Given the description of an element on the screen output the (x, y) to click on. 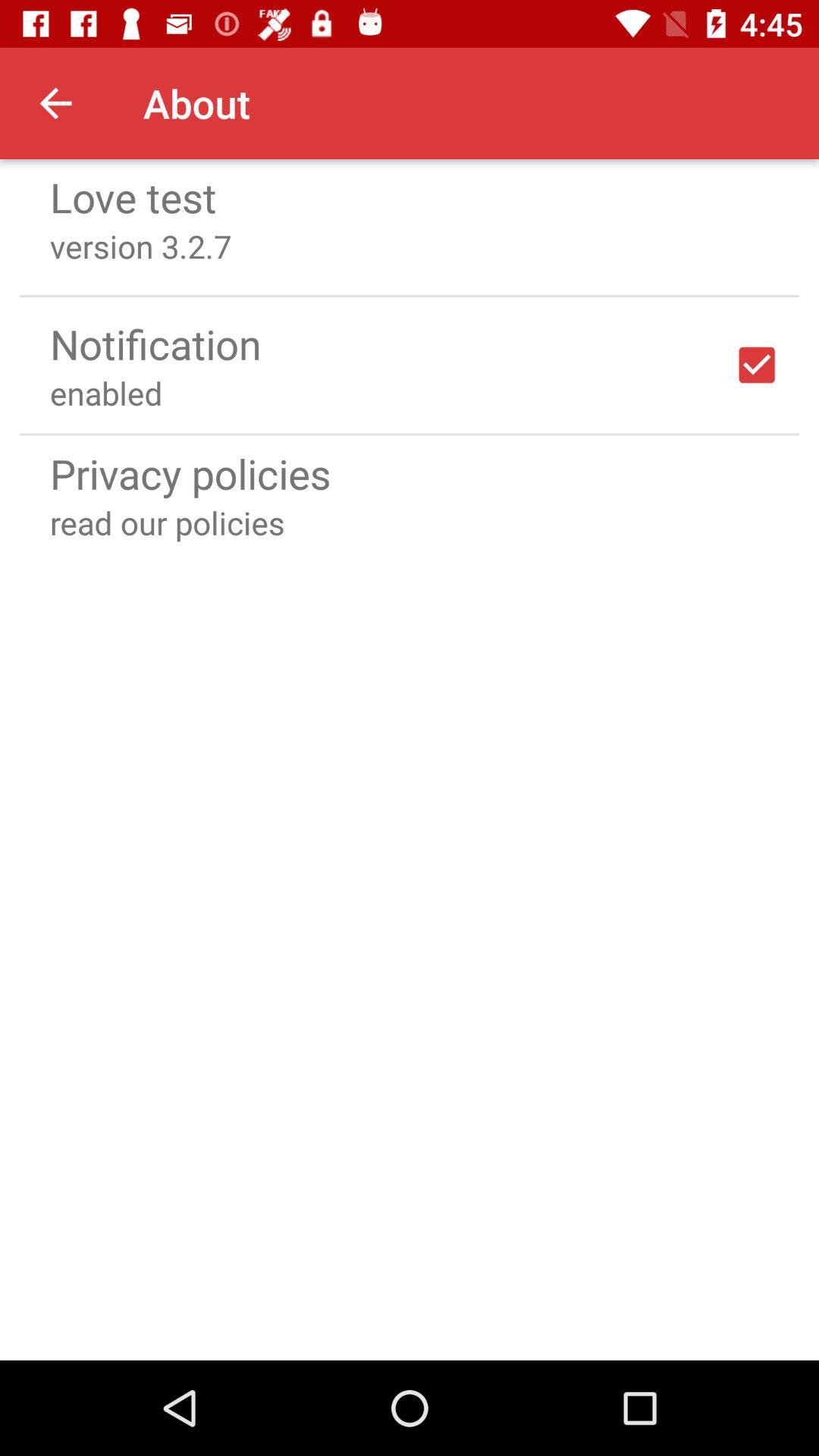
enable notifications (756, 364)
